Given the description of an element on the screen output the (x, y) to click on. 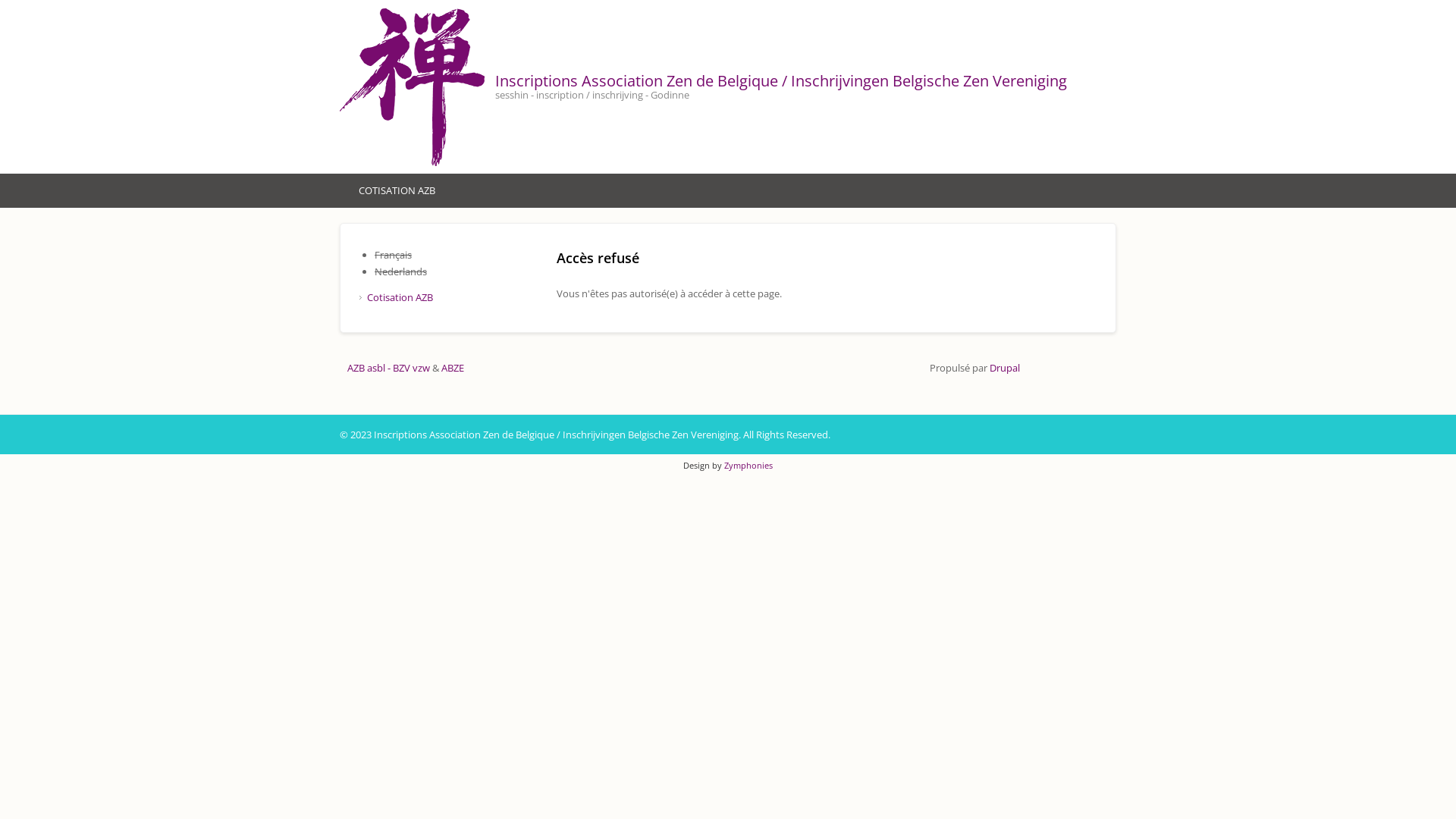
Accueil Element type: hover (415, 86)
Cotisation AZB Element type: text (400, 297)
AZB asbl - BZV vzw Element type: text (388, 367)
Aller au contenu principal Element type: text (57, 0)
ABZE Element type: text (452, 367)
Drupal Element type: text (1004, 367)
Zymphonies Element type: text (748, 464)
COTISATION AZB Element type: text (396, 190)
